Given the description of an element on the screen output the (x, y) to click on. 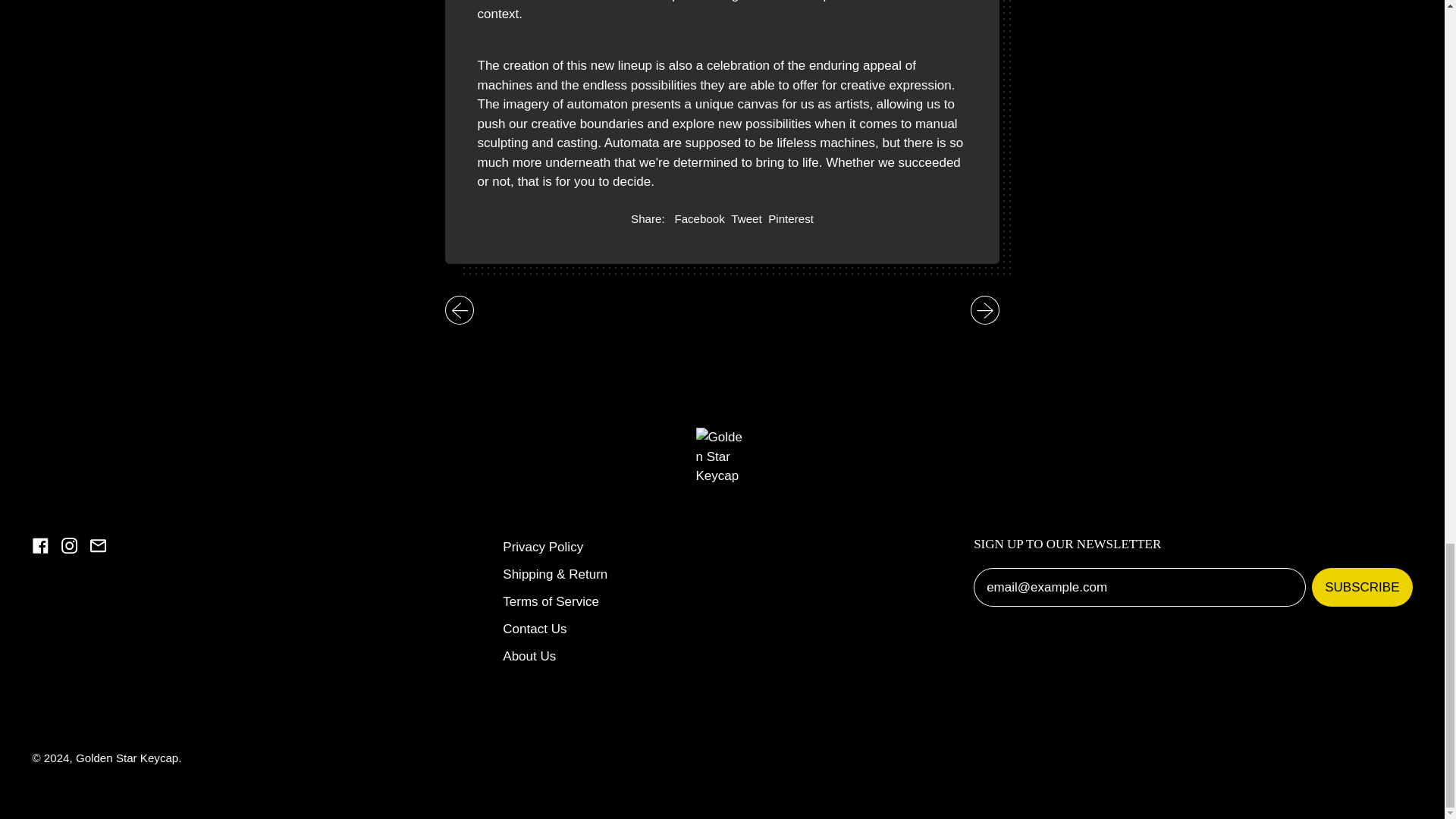
About Us (529, 656)
SUBSCRIBE (1361, 587)
Facebook (40, 549)
Privacy Policy (542, 546)
Email (698, 219)
Contact Us (98, 549)
Terms of Service (534, 628)
Instagram (550, 601)
Golden Star Keycap (745, 219)
